Given the description of an element on the screen output the (x, y) to click on. 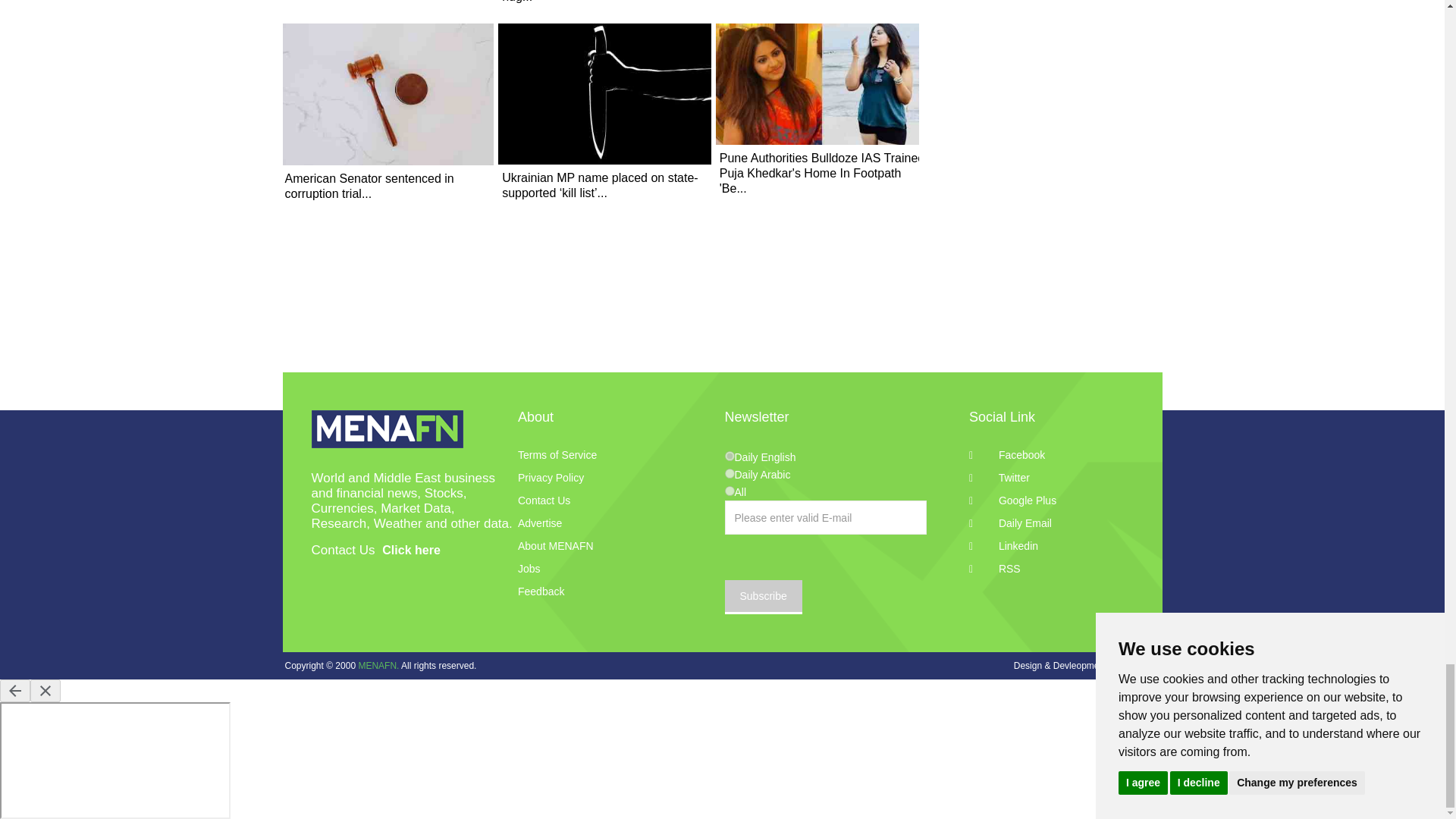
Subscribe (763, 596)
Advertisement (721, 334)
